Given the description of an element on the screen output the (x, y) to click on. 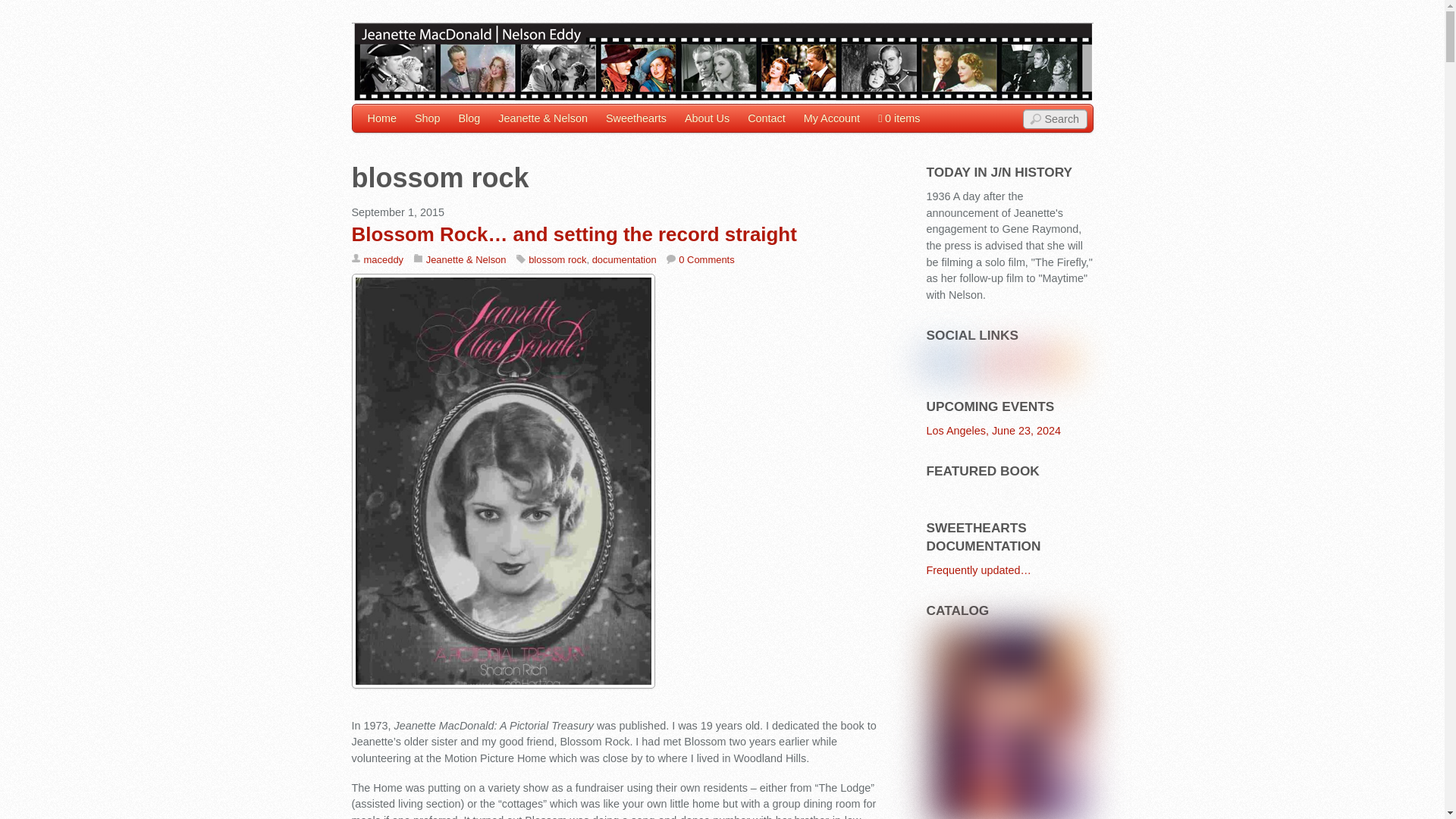
Home (381, 117)
Sweethearts (635, 117)
About Us (706, 117)
Shop (427, 117)
Start shopping (898, 117)
Blog (468, 117)
